Given the description of an element on the screen output the (x, y) to click on. 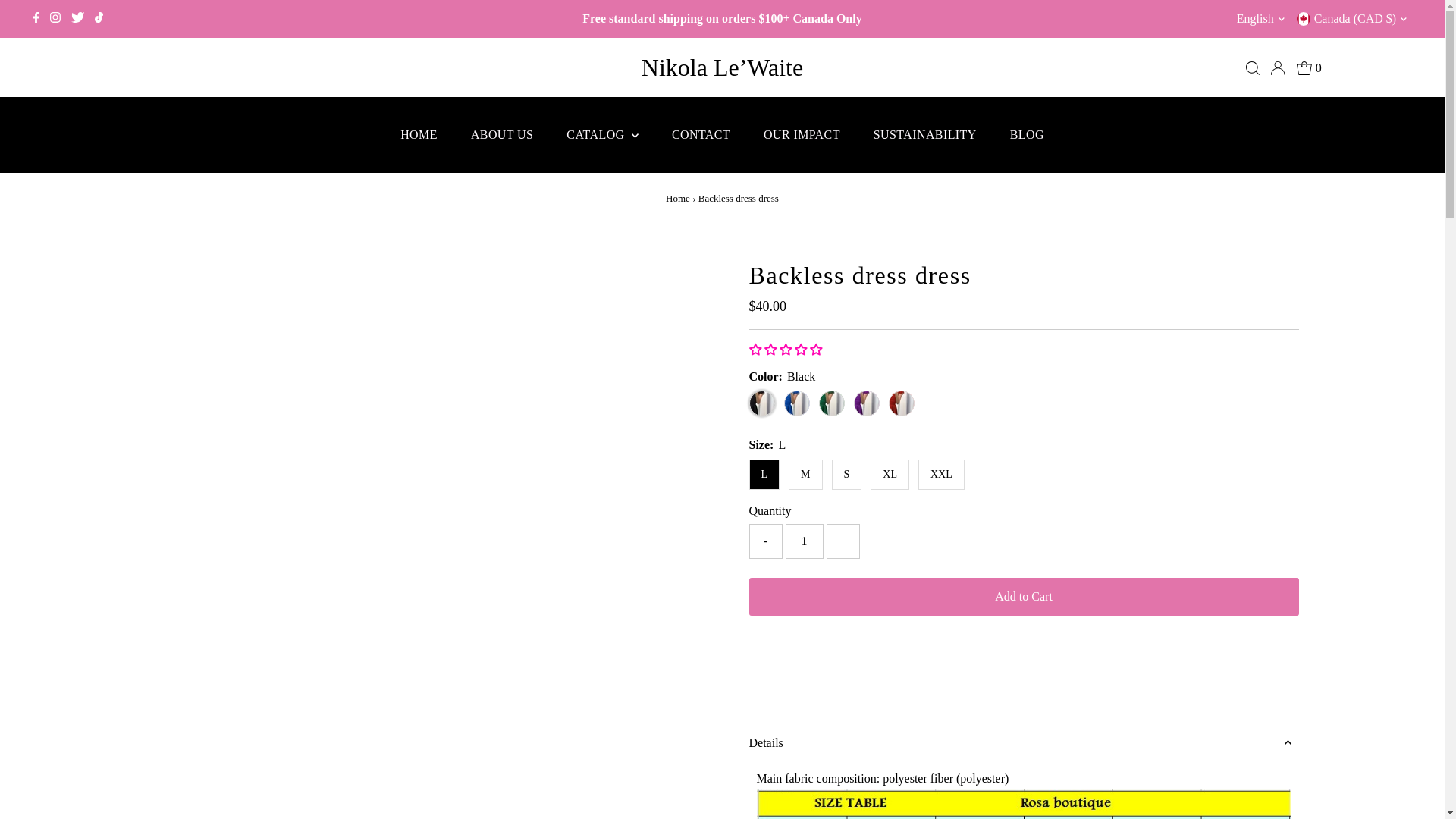
Home (677, 197)
1 (805, 541)
English (1262, 18)
Add to Cart (1023, 596)
